Given the description of an element on the screen output the (x, y) to click on. 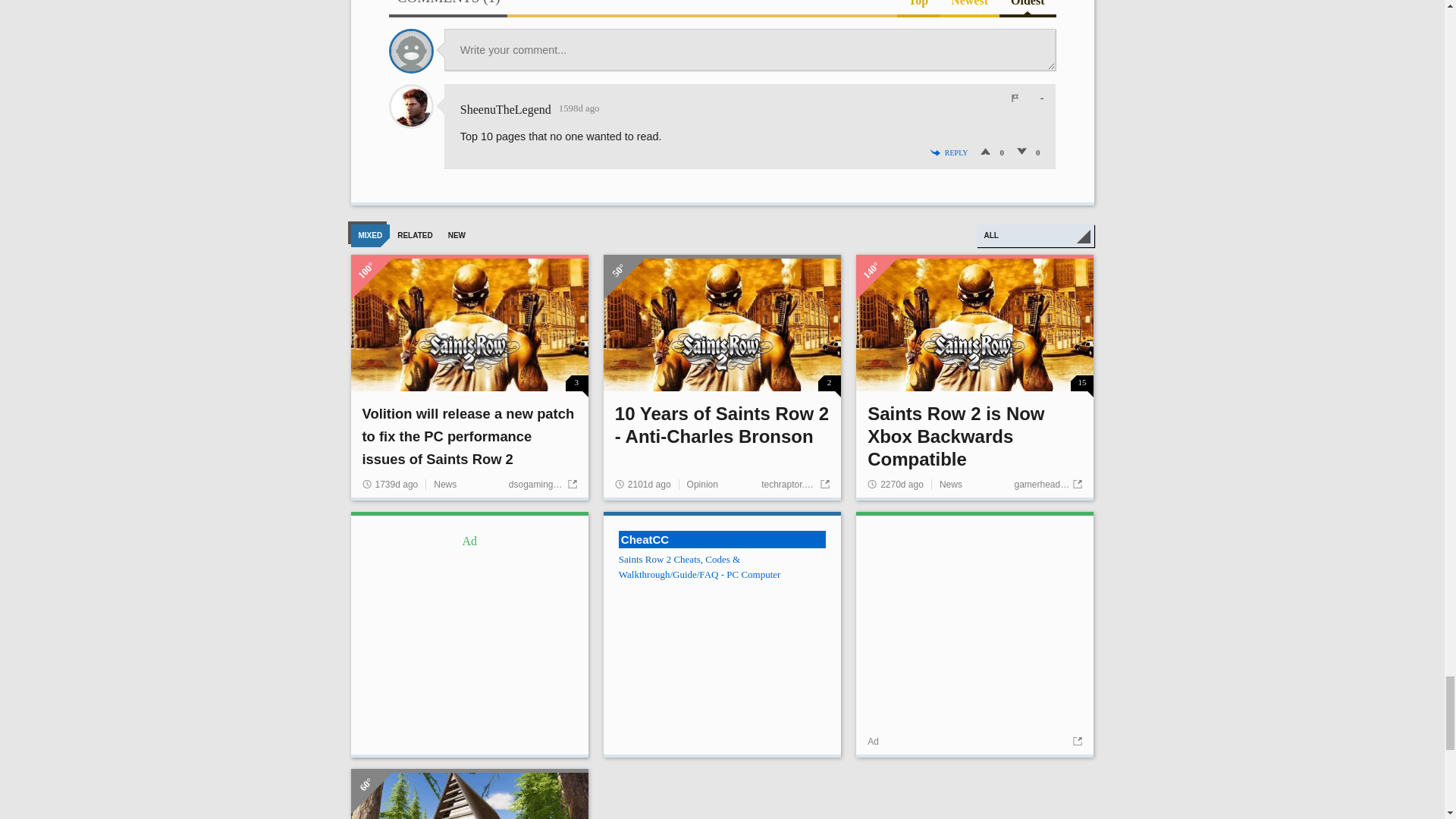
Go to source: techraptor.net (795, 484)
Go to source: dsogaming.com (542, 484)
Go to source (1074, 741)
Go to source: gamerheadquarters.com (1047, 484)
